Given the description of an element on the screen output the (x, y) to click on. 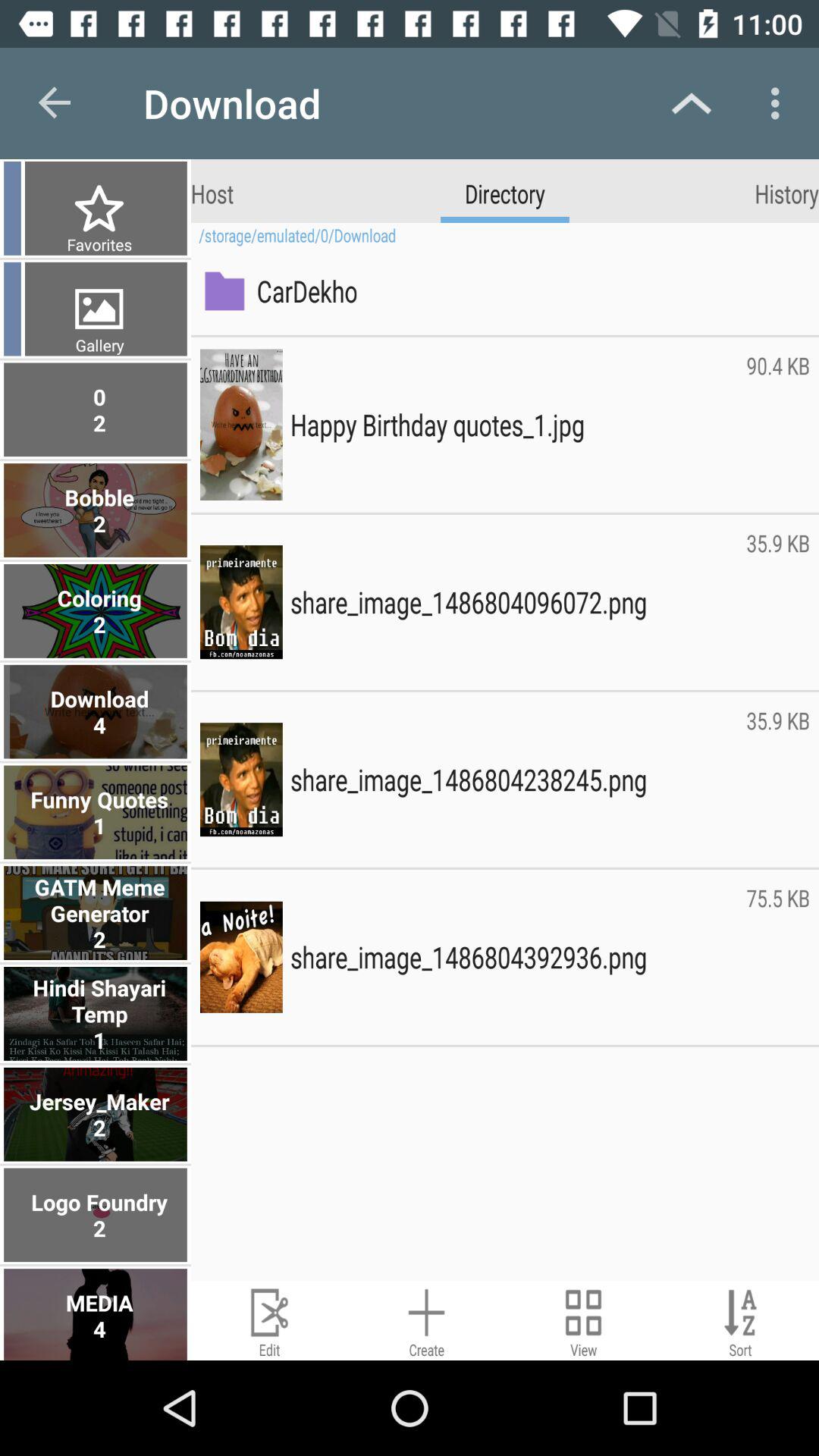
tap icon above 35.9 kb icon (777, 424)
